Given the description of an element on the screen output the (x, y) to click on. 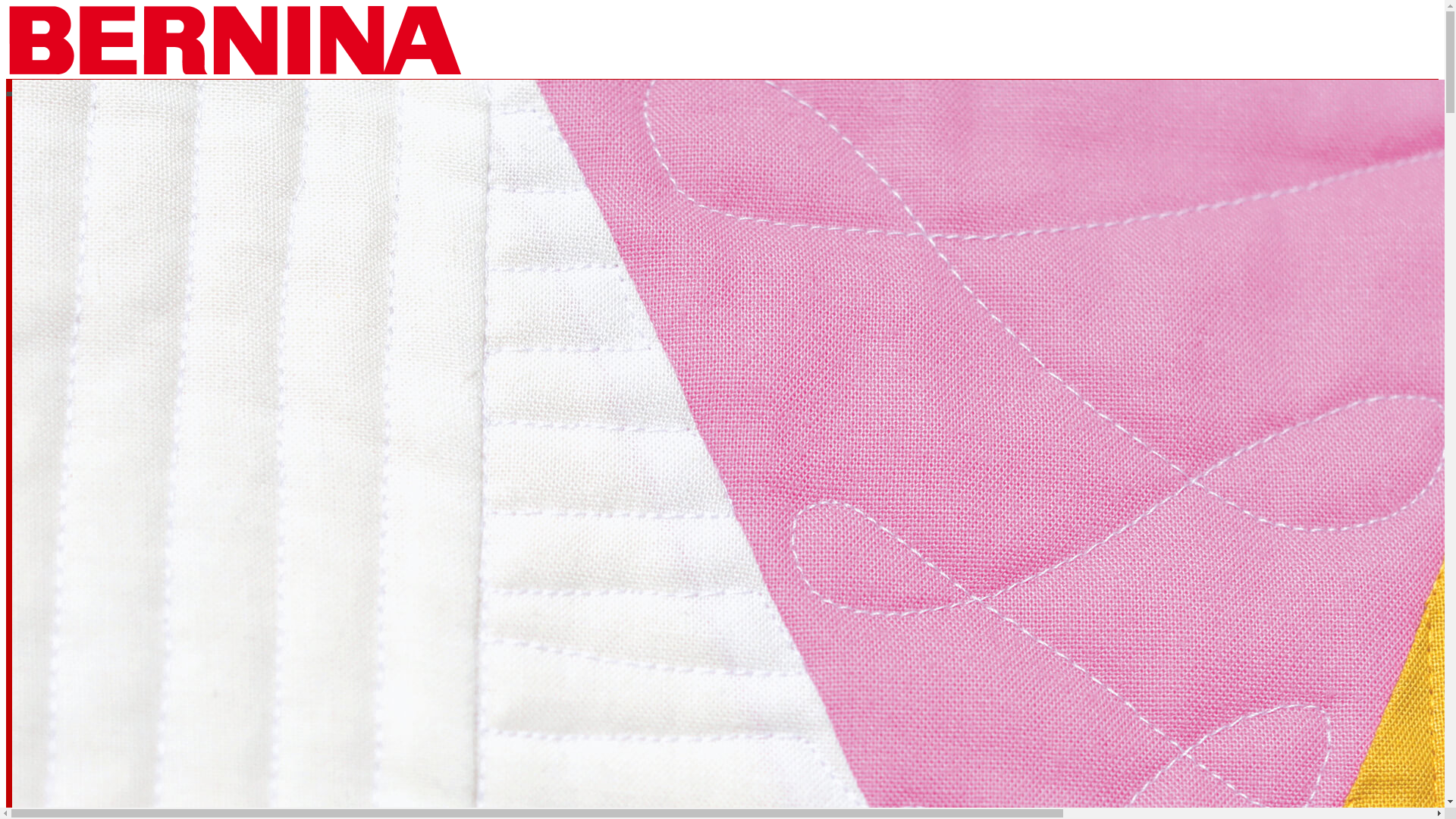
bernette Element type: text (172, 449)
Produkte Element type: text (476, 191)
Software Element type: text (172, 632)
Overlocker Element type: text (172, 357)
Stoffe und Kurzwaren Element type: text (172, 724)
